Given the description of an element on the screen output the (x, y) to click on. 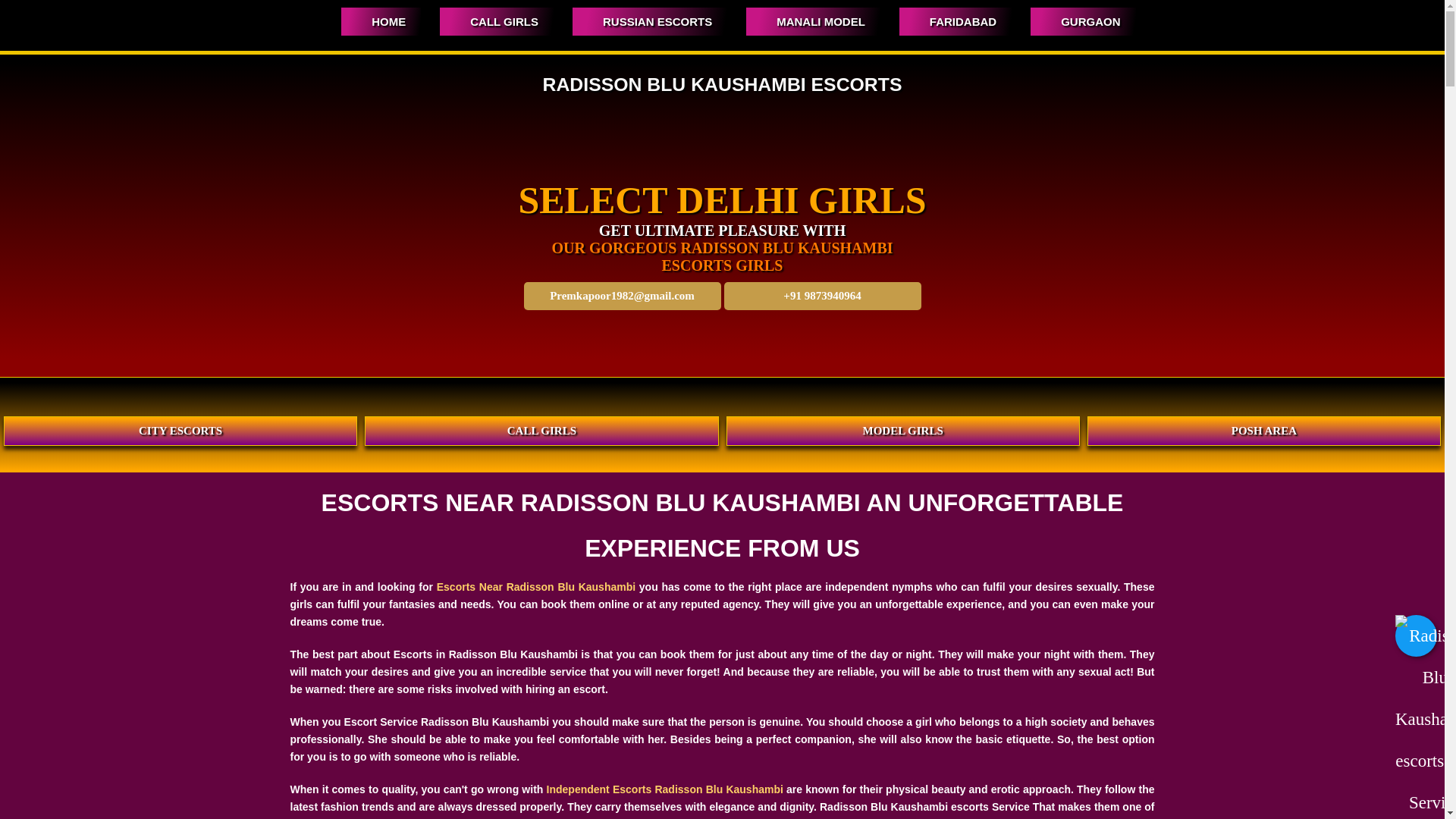
FARIDABAD (955, 21)
HOME (380, 21)
MANALI MODEL (812, 21)
GURGAON (1082, 21)
CALL GIRLS (496, 21)
RADISSON BLU KAUSHAMBI ESCORTS (722, 84)
RUSSIAN ESCORTS (649, 21)
